Given the description of an element on the screen output the (x, y) to click on. 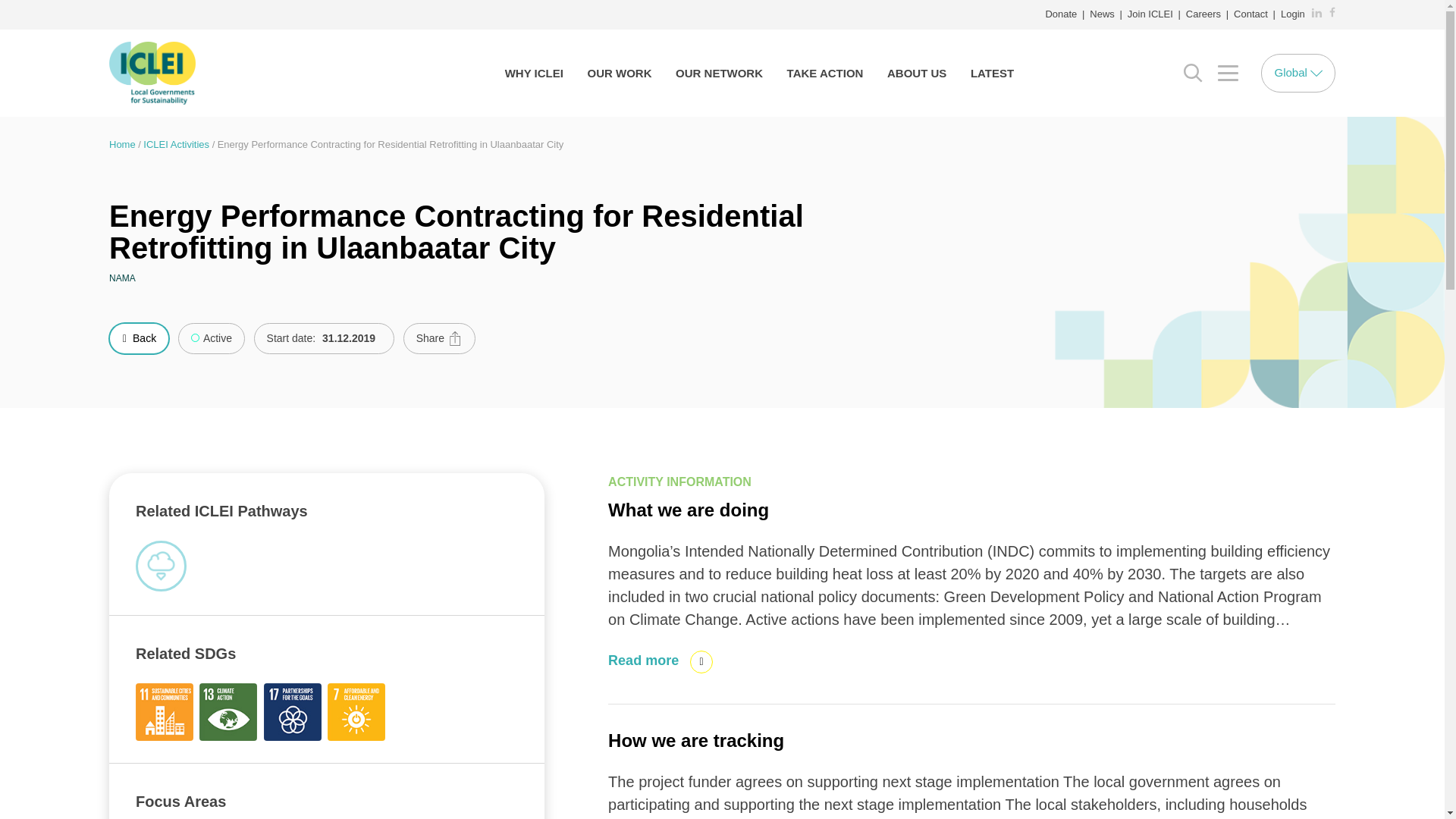
Go to ICLEI. (122, 143)
Go to ICLEI Activities. (175, 143)
OUR WORK (618, 73)
search opener (1192, 72)
ABOUT US (916, 73)
OUR NETWORK (719, 73)
News (1102, 13)
Contact (1250, 13)
Careers (1203, 13)
Donate (1061, 13)
